Given the description of an element on the screen output the (x, y) to click on. 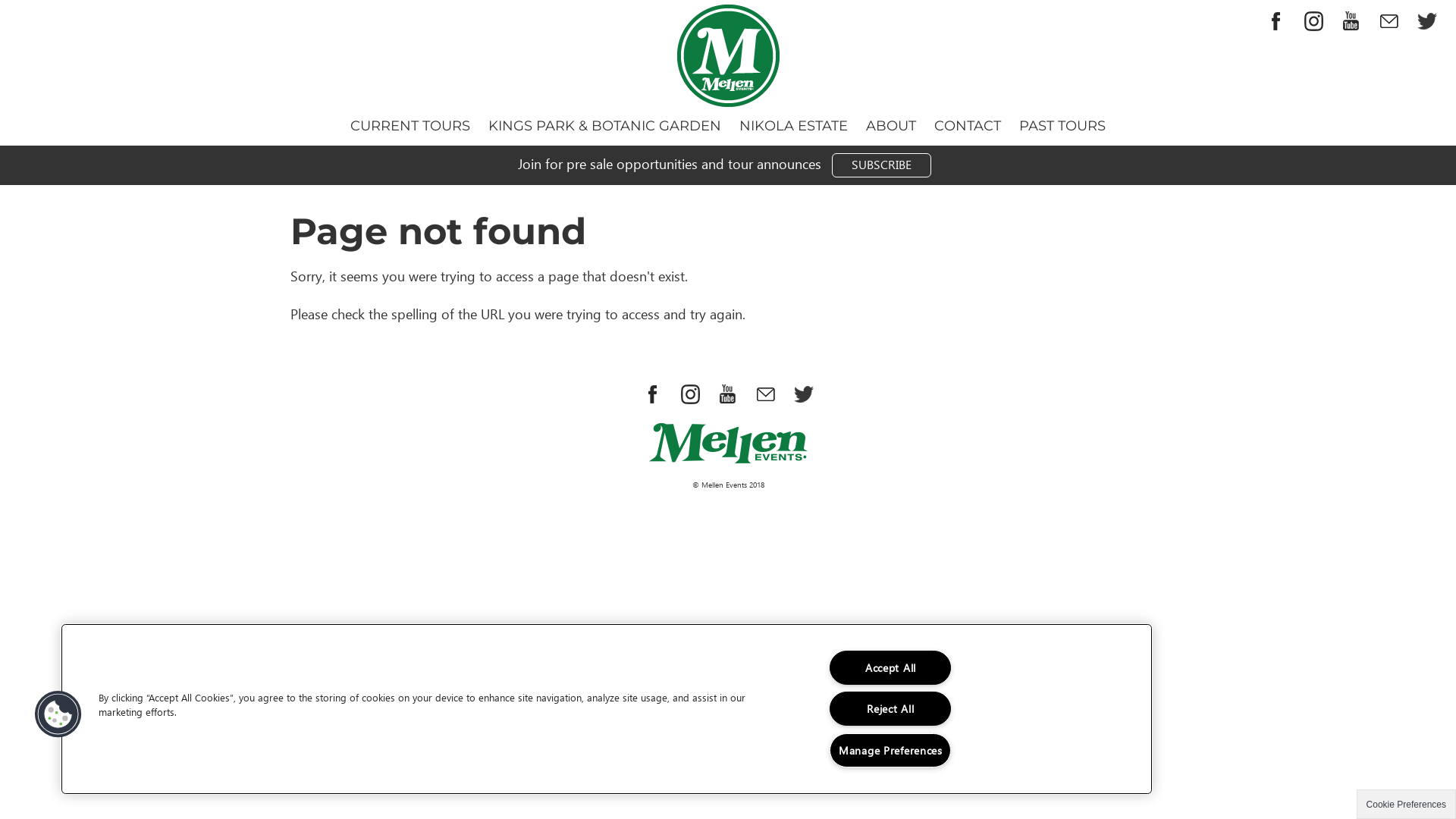
CURRENT TOURS Element type: text (409, 125)
NIKOLA ESTATE Element type: text (793, 125)
PAST TOURS Element type: text (1062, 125)
KINGS PARK & BOTANIC GARDEN Element type: text (604, 125)
SUBSCRIBE Element type: text (880, 165)
CONTACT Element type: text (967, 125)
ABOUT Element type: text (890, 125)
